Given the description of an element on the screen output the (x, y) to click on. 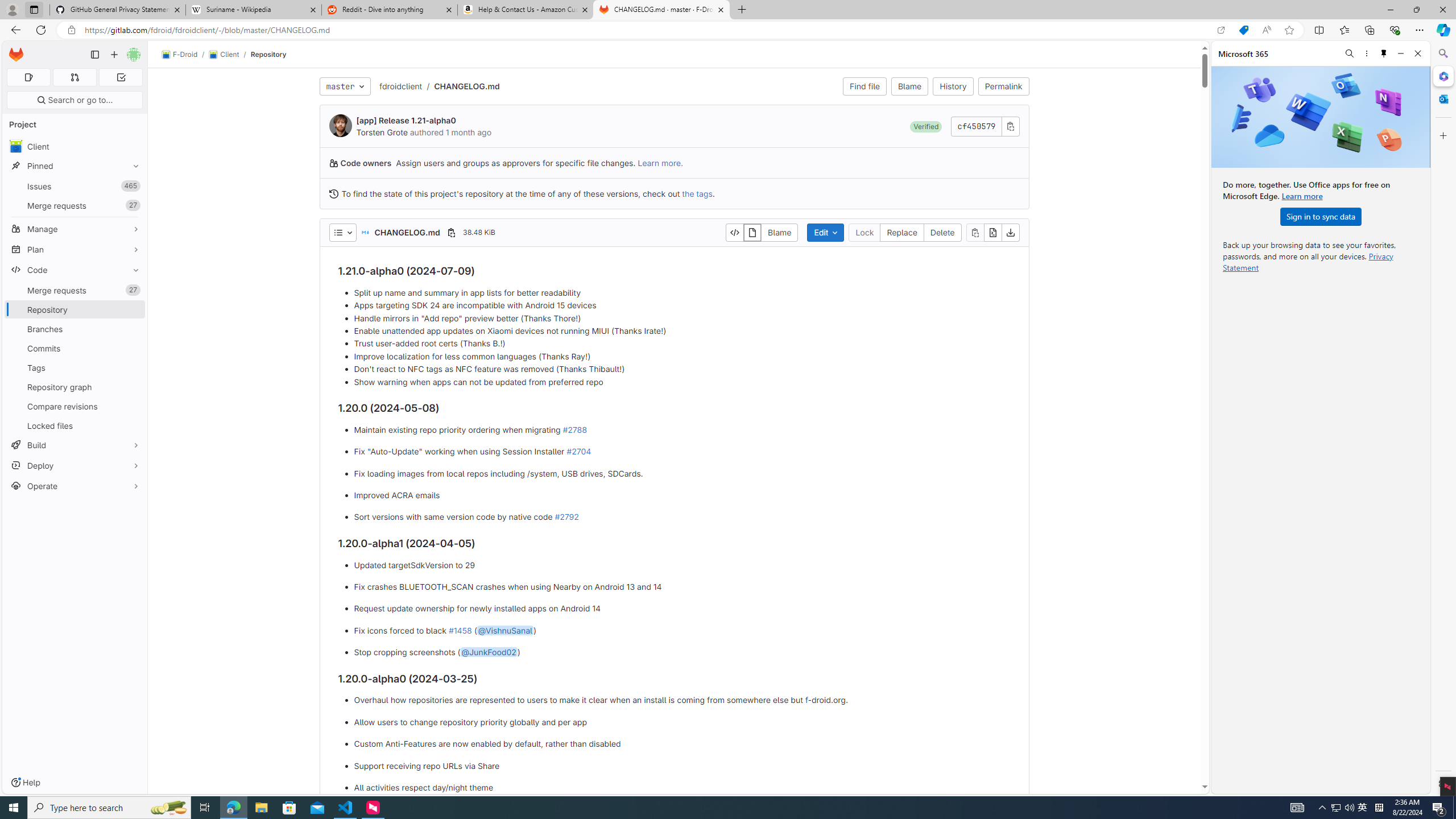
Operate (74, 485)
Pin Repository graph (132, 386)
Learn more. (659, 162)
Sign in to sync data (1320, 216)
Deploy (74, 465)
#2704 (578, 451)
To-Do list 0 (120, 76)
Commits (74, 348)
Commits (74, 348)
#2788 (574, 429)
Repository graph (74, 386)
